Given the description of an element on the screen output the (x, y) to click on. 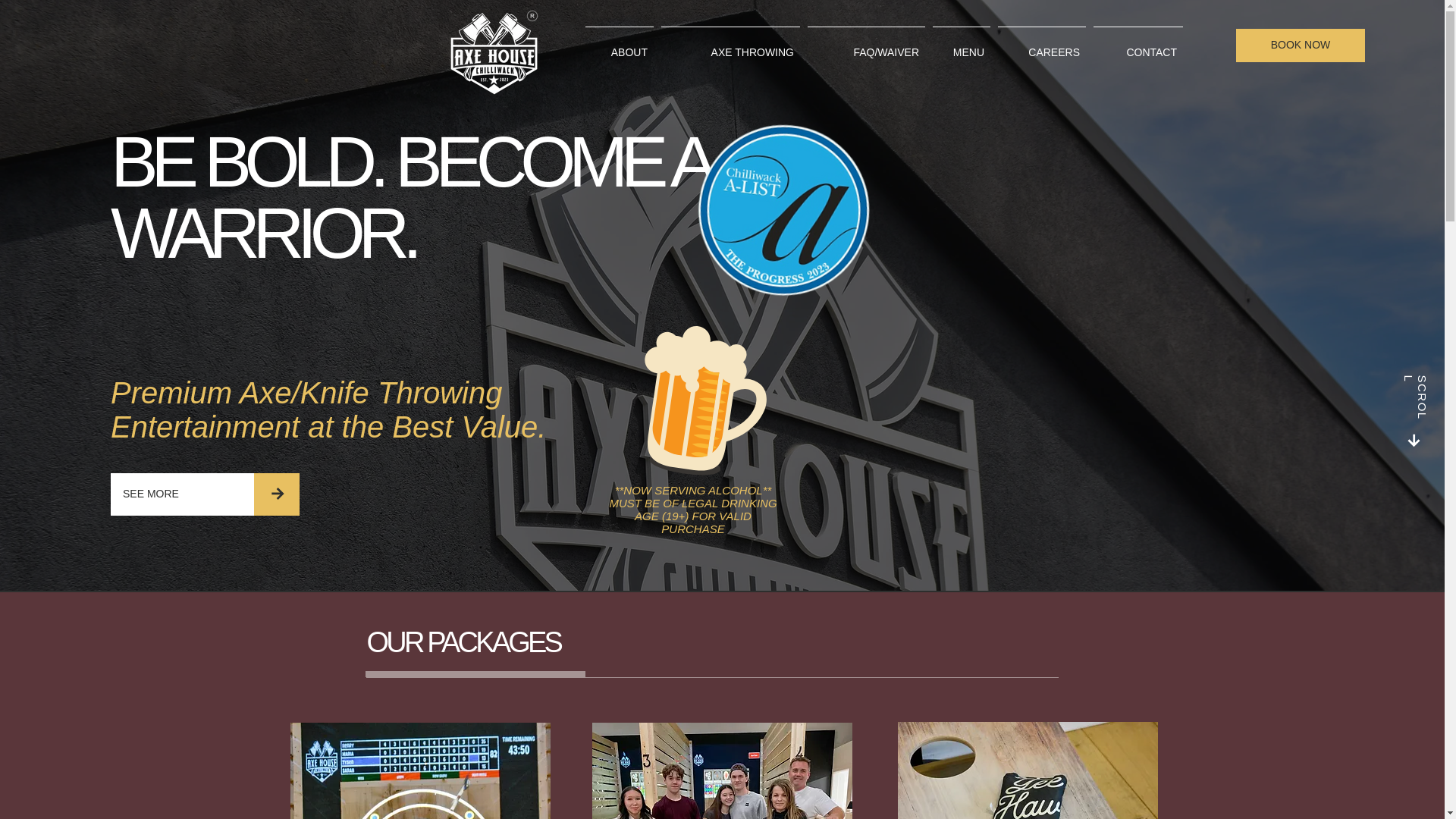
CONTACT (1137, 45)
ABOUT (619, 45)
MENU (961, 45)
SEE MORE (181, 494)
AXE THROWING (730, 45)
BOOK NOW (1300, 45)
8.png (492, 54)
CAREERS (1041, 45)
